Given the description of an element on the screen output the (x, y) to click on. 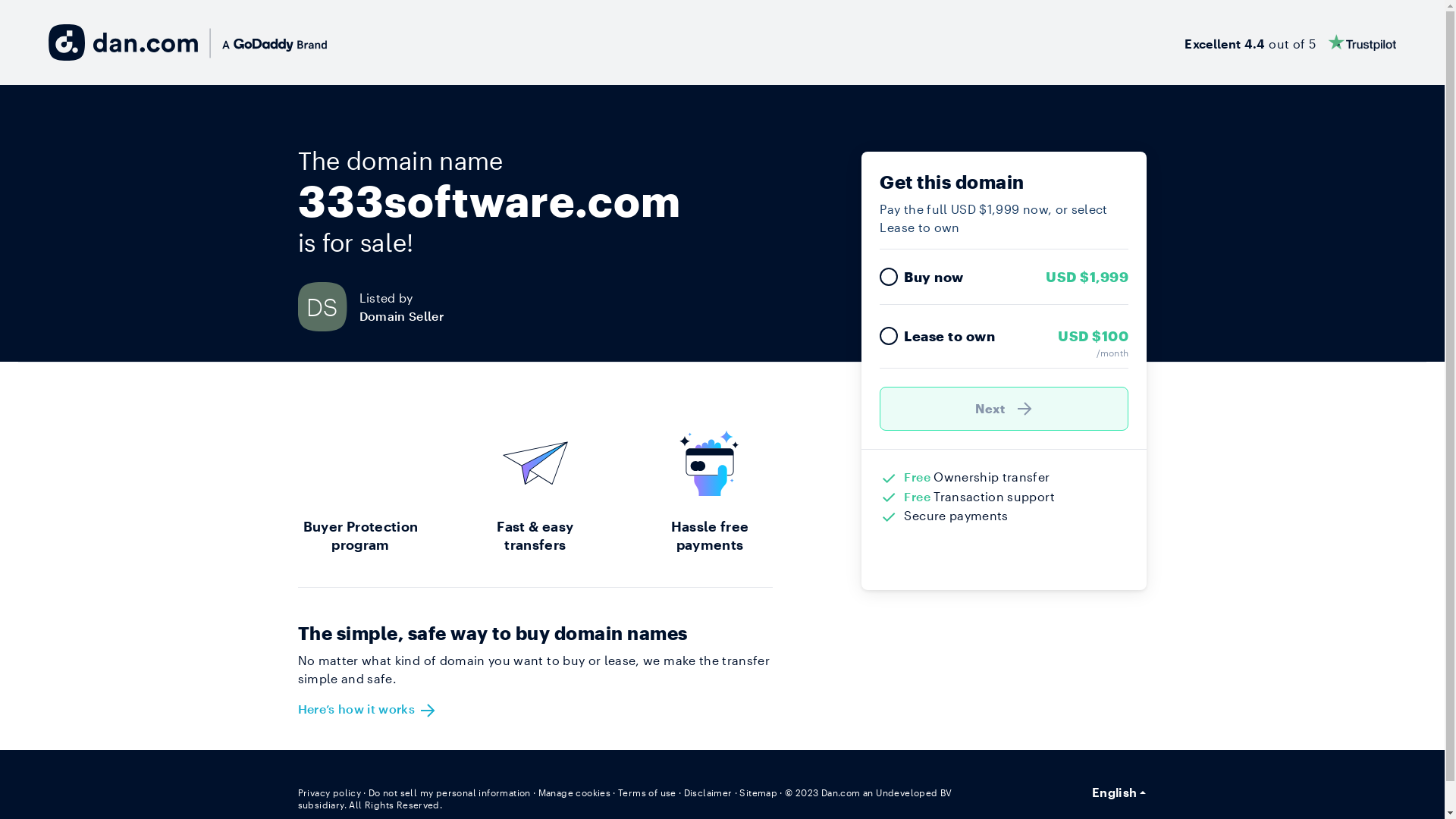
Privacy policy Element type: text (328, 792)
Excellent 4.4 out of 5 Element type: text (1290, 42)
Do not sell my personal information Element type: text (449, 792)
Sitemap Element type: text (758, 792)
English Element type: text (1119, 792)
Next
) Element type: text (1003, 408)
Manage cookies Element type: text (574, 792)
Disclaimer Element type: text (708, 792)
Terms of use Element type: text (647, 792)
